Given the description of an element on the screen output the (x, y) to click on. 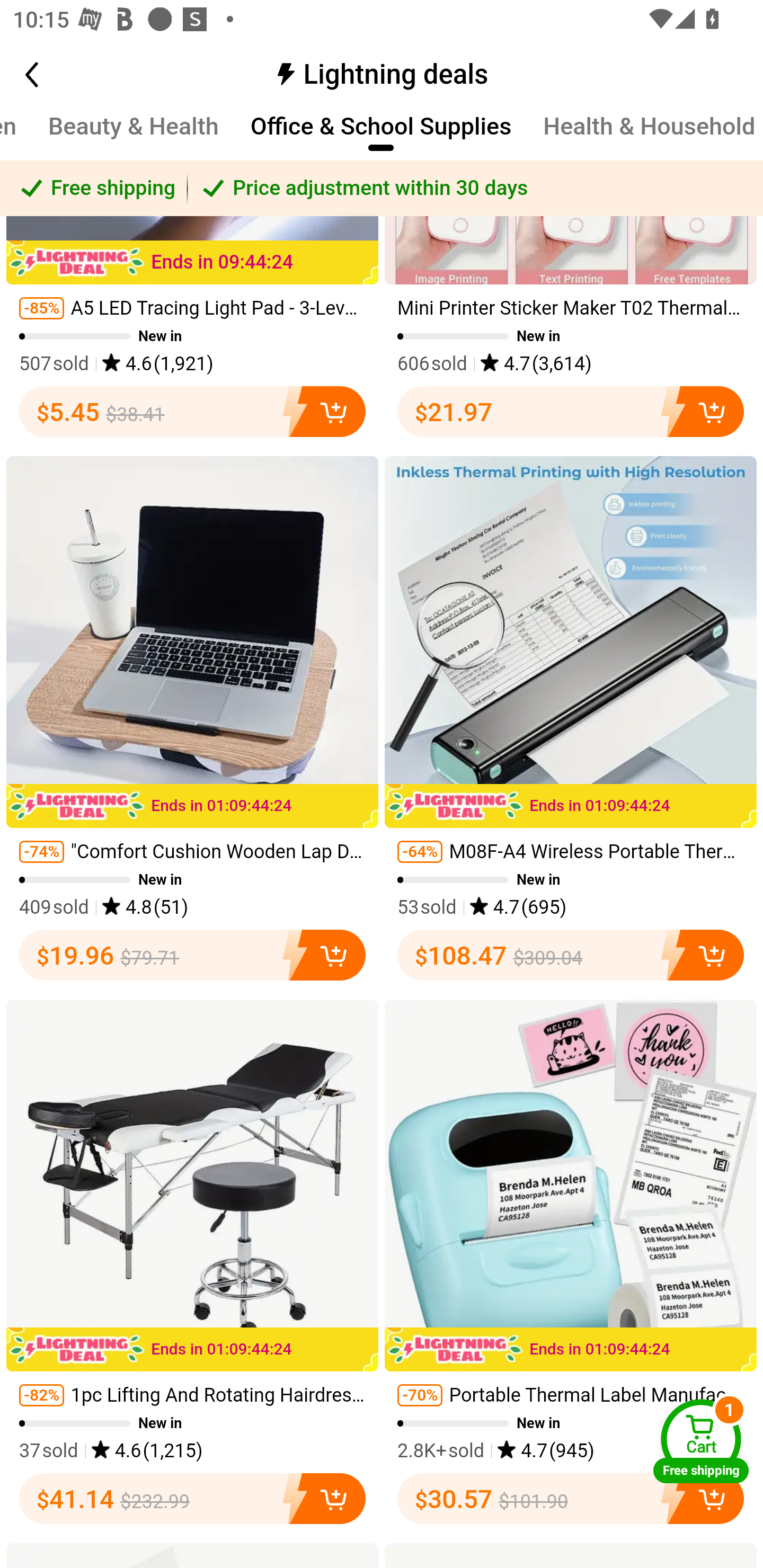
Cart Free shipping Cart (701, 1440)
